Given the description of an element on the screen output the (x, y) to click on. 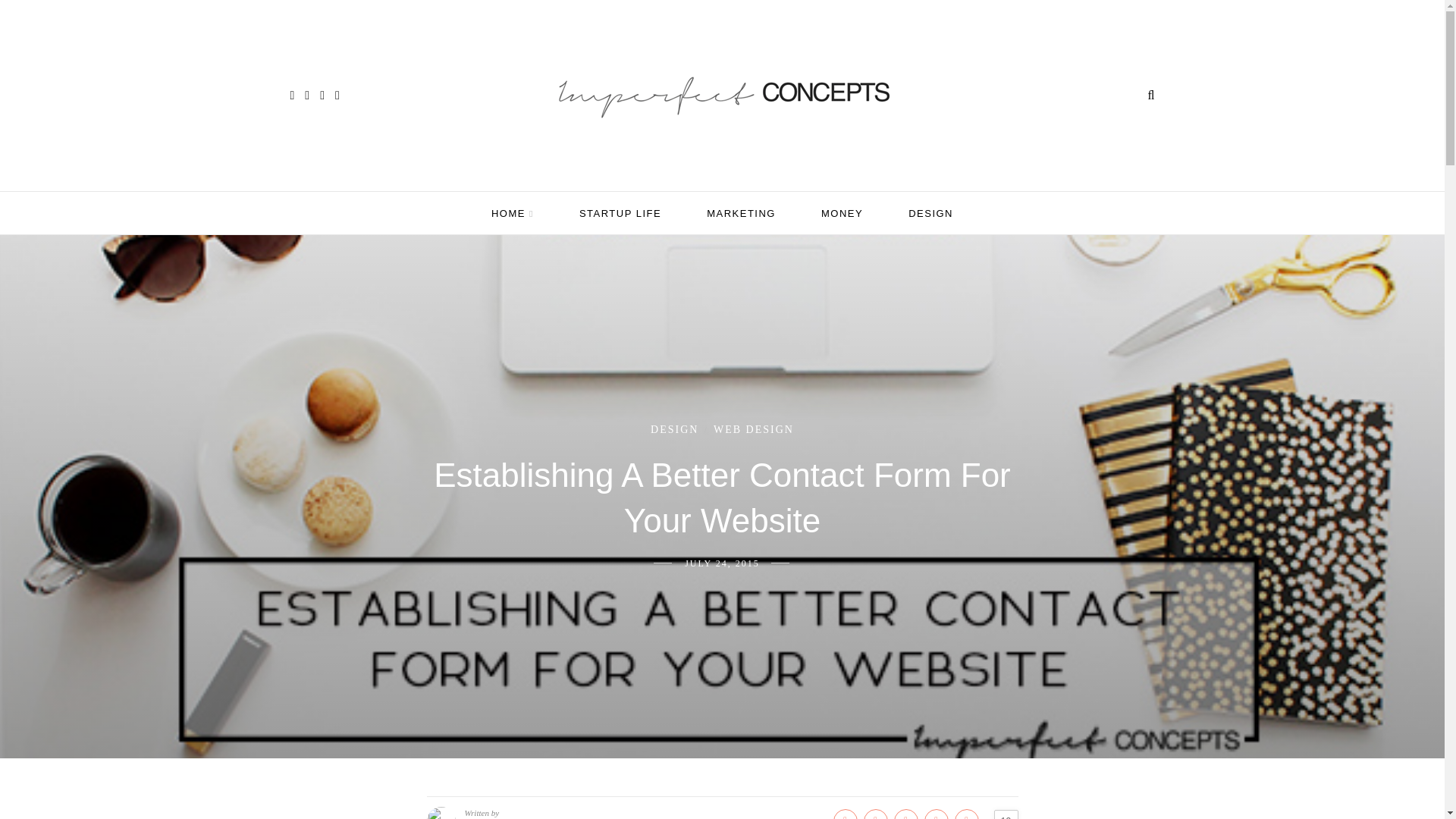
HOME (513, 213)
STARTUP LIFE (620, 213)
TASHA (483, 817)
JULY 24, 2015 (722, 562)
DESIGN (930, 213)
MONEY (842, 213)
Posts by Tasha (483, 817)
MARKETING (741, 213)
WEB DESIGN (753, 429)
DESIGN (674, 429)
